Given the description of an element on the screen output the (x, y) to click on. 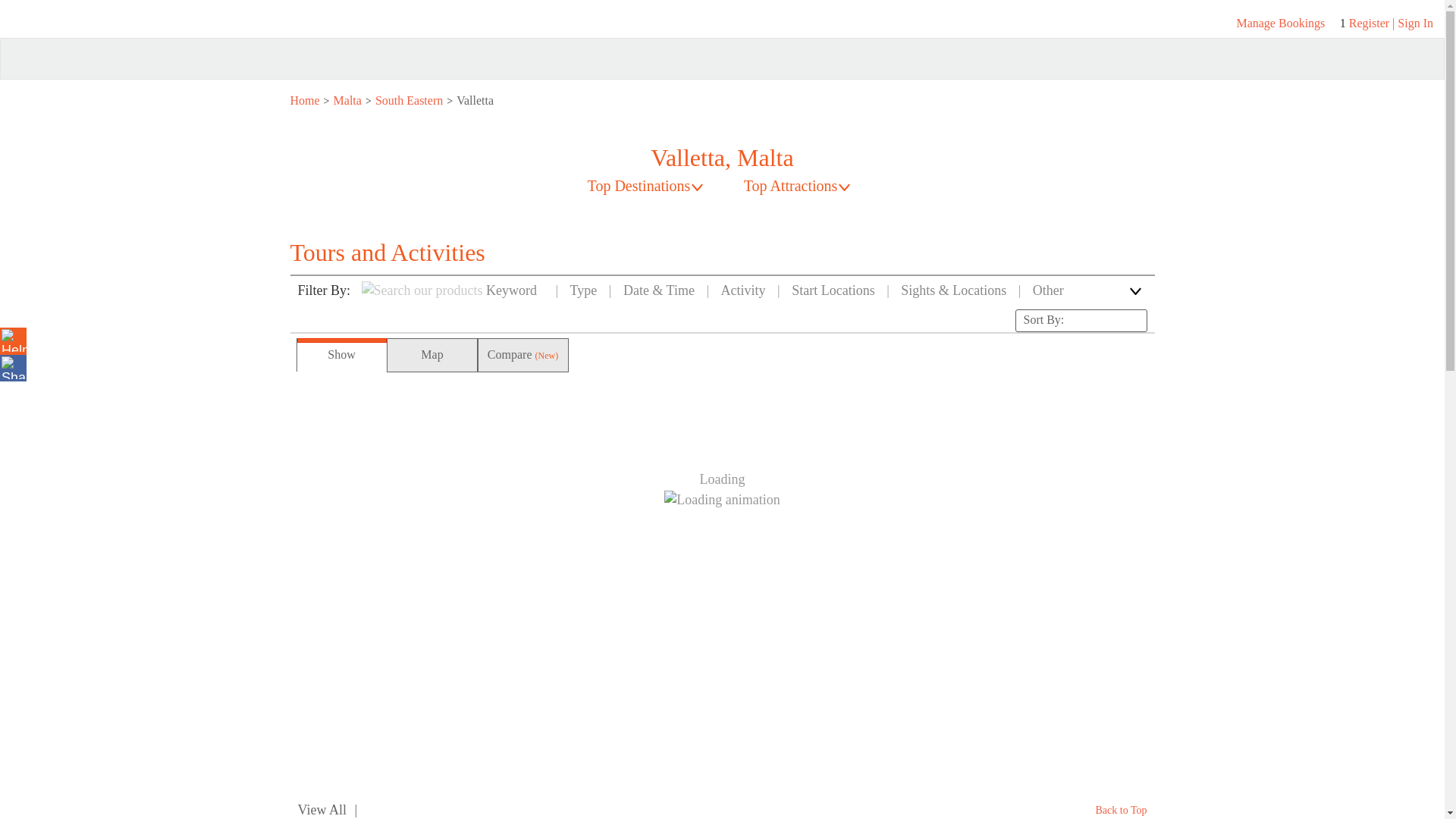
Sign In (1414, 22)
